Given the description of an element on the screen output the (x, y) to click on. 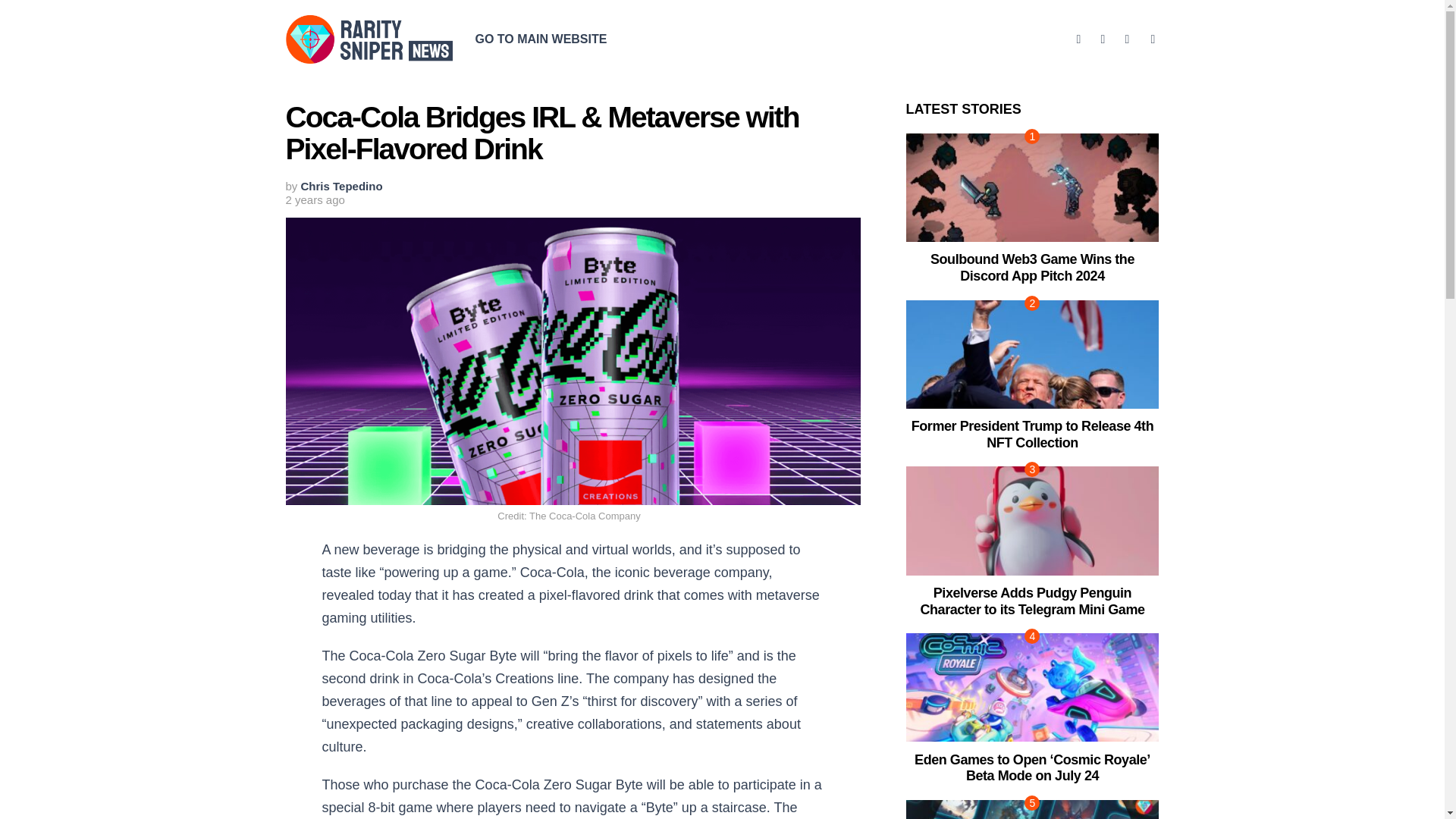
twitter (1077, 38)
Soulbound Web3 Game Wins the Discord App Pitch 2024 (1031, 187)
Chris Tepedino (341, 185)
instagram (1126, 38)
GO TO MAIN WEBSITE (540, 38)
discord (1102, 38)
Former President Trump to Release 4th NFT Collection (1032, 434)
Soulbound Web3 Game Wins the Discord App Pitch 2024 (1032, 267)
Posts by Chris Tepedino (341, 185)
Former President Trump to Release 4th NFT Collection (1031, 354)
April 6, 2022, 10:45 am (314, 200)
